Given the description of an element on the screen output the (x, y) to click on. 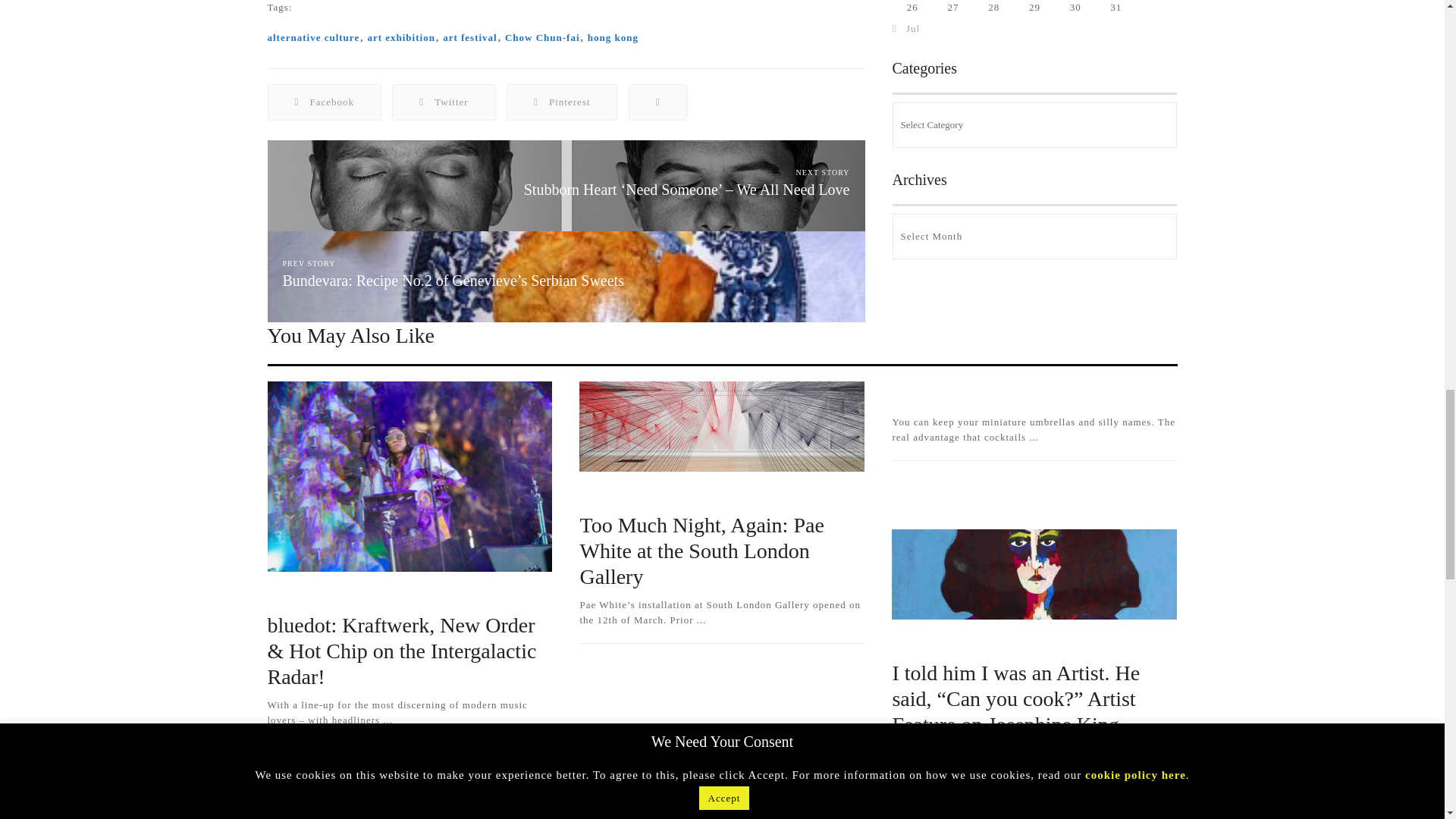
View all posts in 1573 (333, 594)
View all posts in 50 (709, 494)
View all posts in 5 (279, 594)
View all posts in 5 (592, 494)
View all posts in 1572 (454, 594)
View all posts in 1852 (784, 494)
View all posts in 1573 (645, 494)
View all posts in 6 (391, 594)
